Given the description of an element on the screen output the (x, y) to click on. 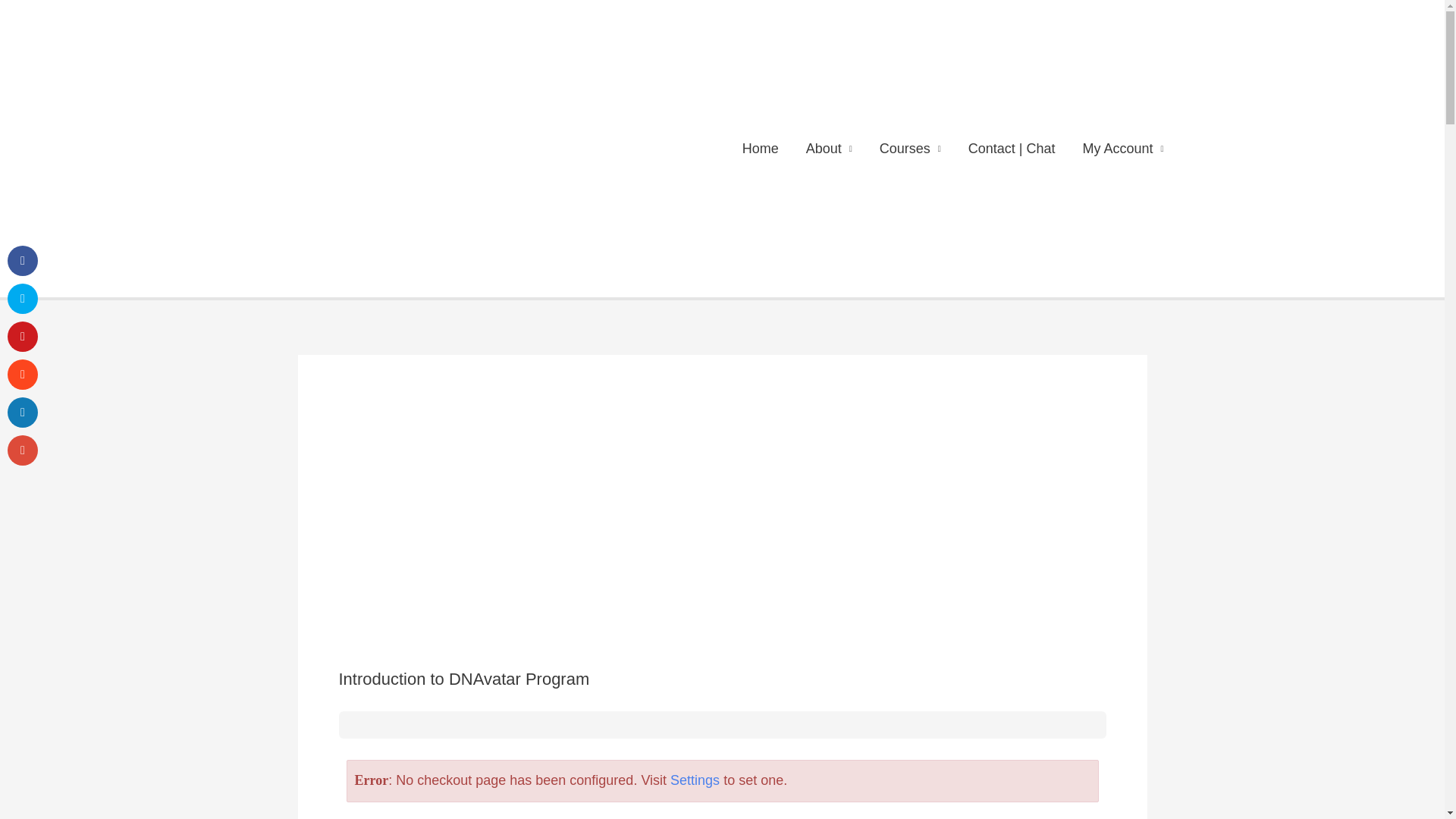
Settings (694, 780)
Home (760, 148)
My Account (1122, 148)
Courses (910, 148)
About (829, 148)
